Given the description of an element on the screen output the (x, y) to click on. 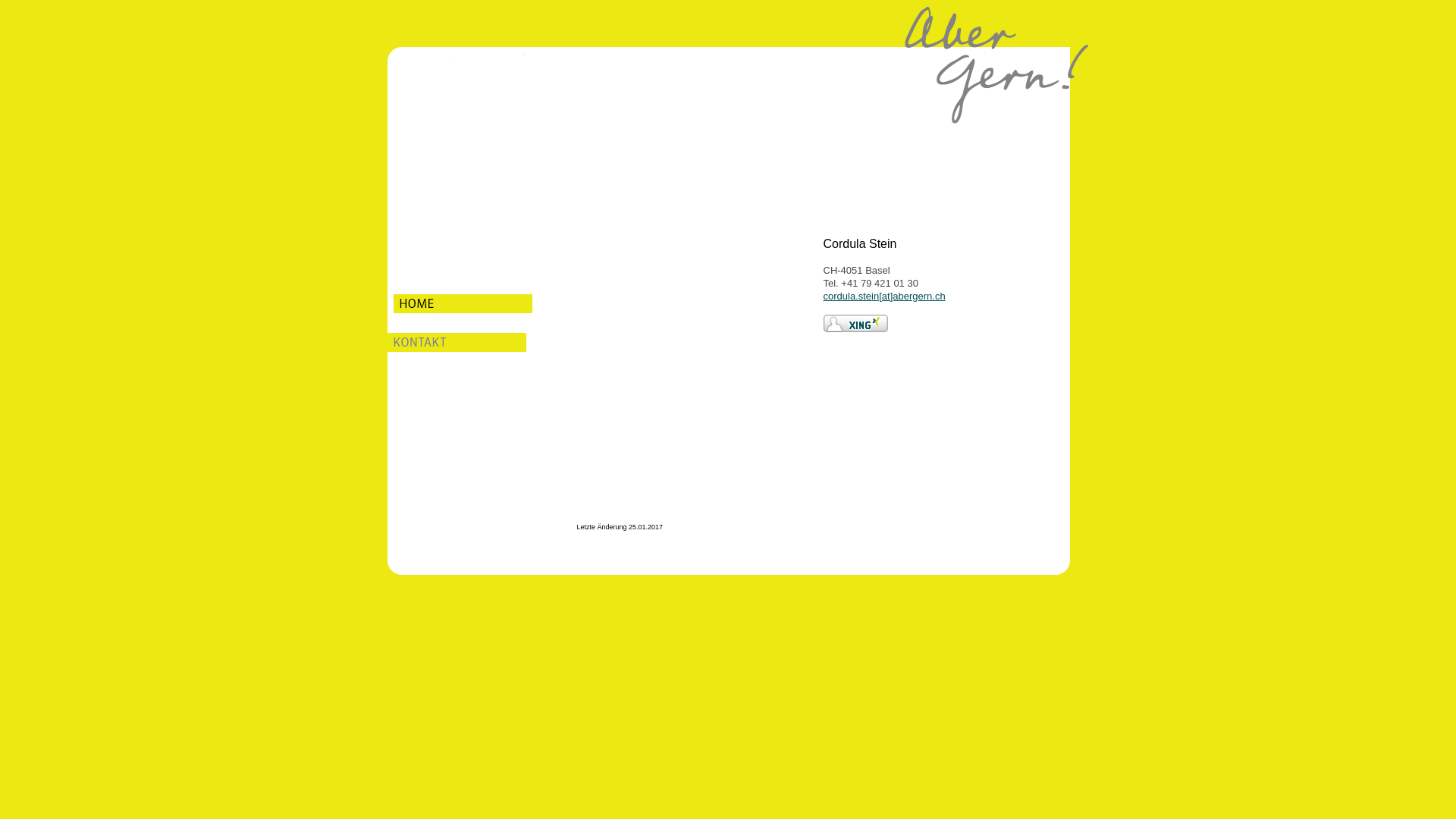
cordula.stein[at]abergern.ch Element type: text (884, 295)
